Given the description of an element on the screen output the (x, y) to click on. 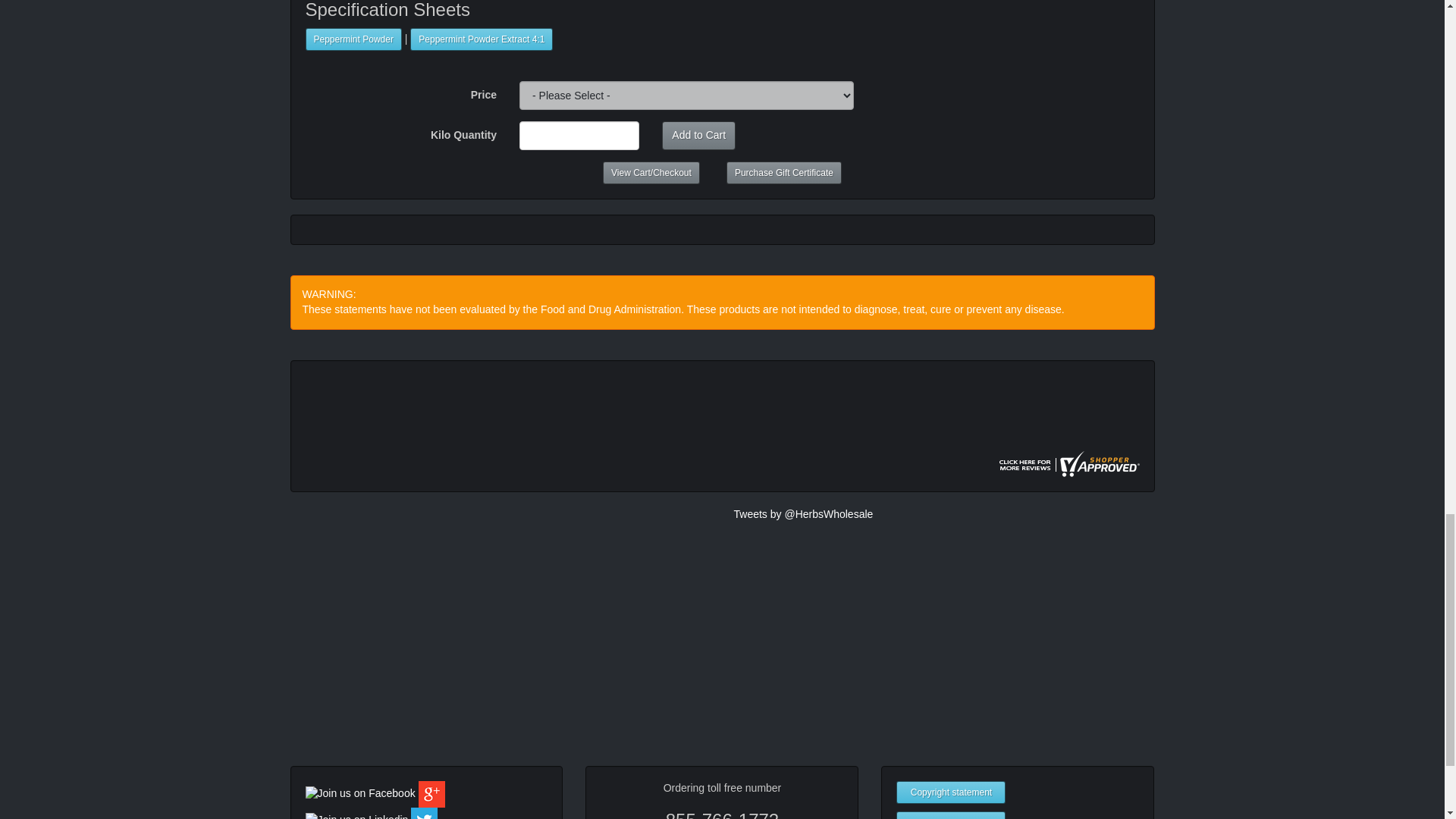
Copyright statement (951, 792)
Privacy statement (951, 815)
Peppermint Powder (352, 38)
Add to Cart (698, 135)
Purchase Gift Certificate (783, 172)
Peppermint Powder Extract 4:1 (481, 38)
Add to Cart (698, 135)
